Given the description of an element on the screen output the (x, y) to click on. 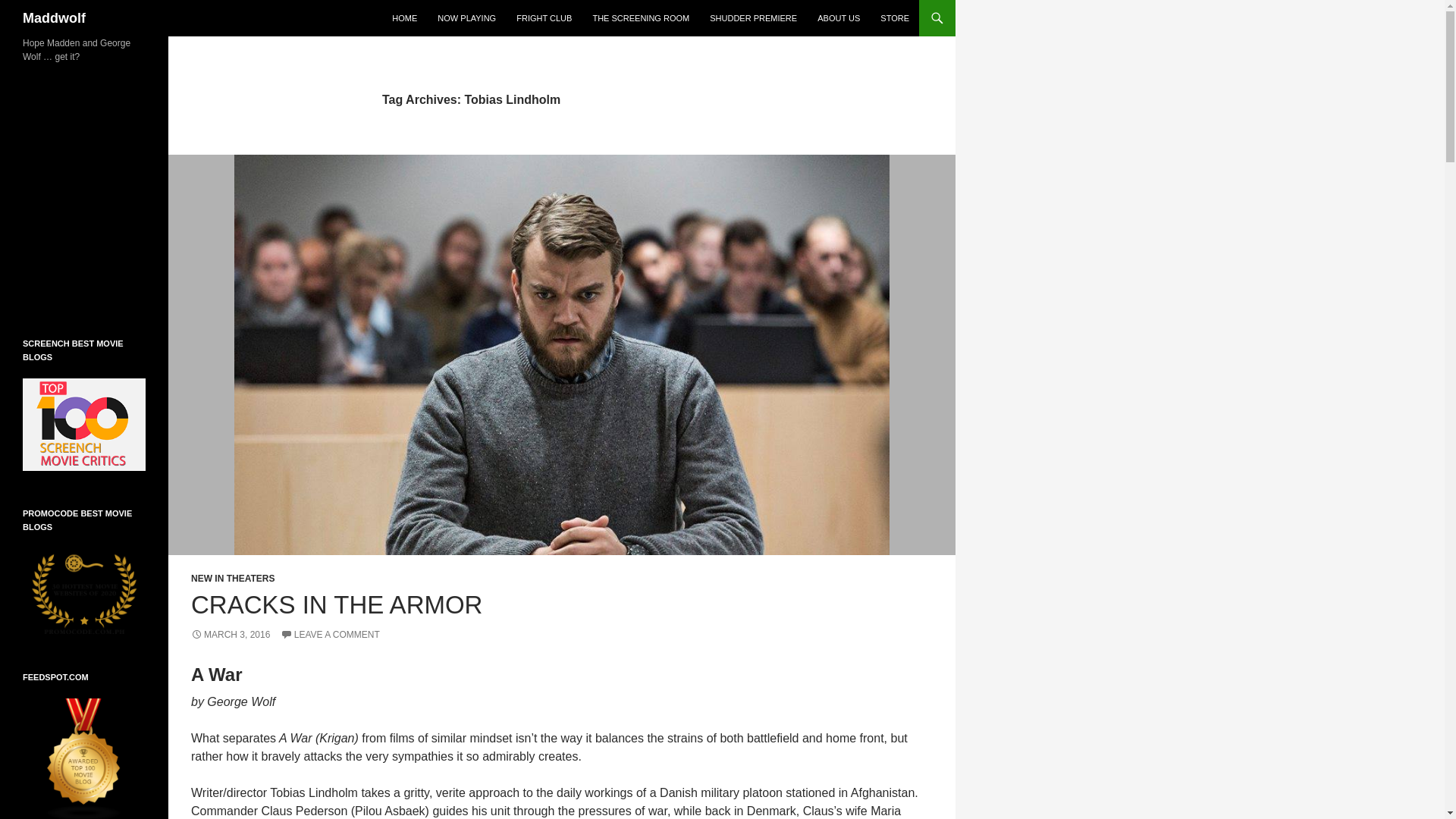
NOW PLAYING (466, 18)
HOME (404, 18)
FRIGHT CLUB (543, 18)
CRACKS IN THE ARMOR (335, 604)
Banners for 30 Hottest Movie Websites of 2020 (84, 590)
LEAVE A COMMENT (330, 634)
THE SCREENING ROOM (640, 18)
Maddwolf (54, 18)
SHUDDER PREMIERE (753, 18)
Movie blogs (84, 758)
NEW IN THEATERS (232, 578)
MARCH 3, 2016 (229, 634)
STORE (894, 18)
ABOUT US (838, 18)
